Given the description of an element on the screen output the (x, y) to click on. 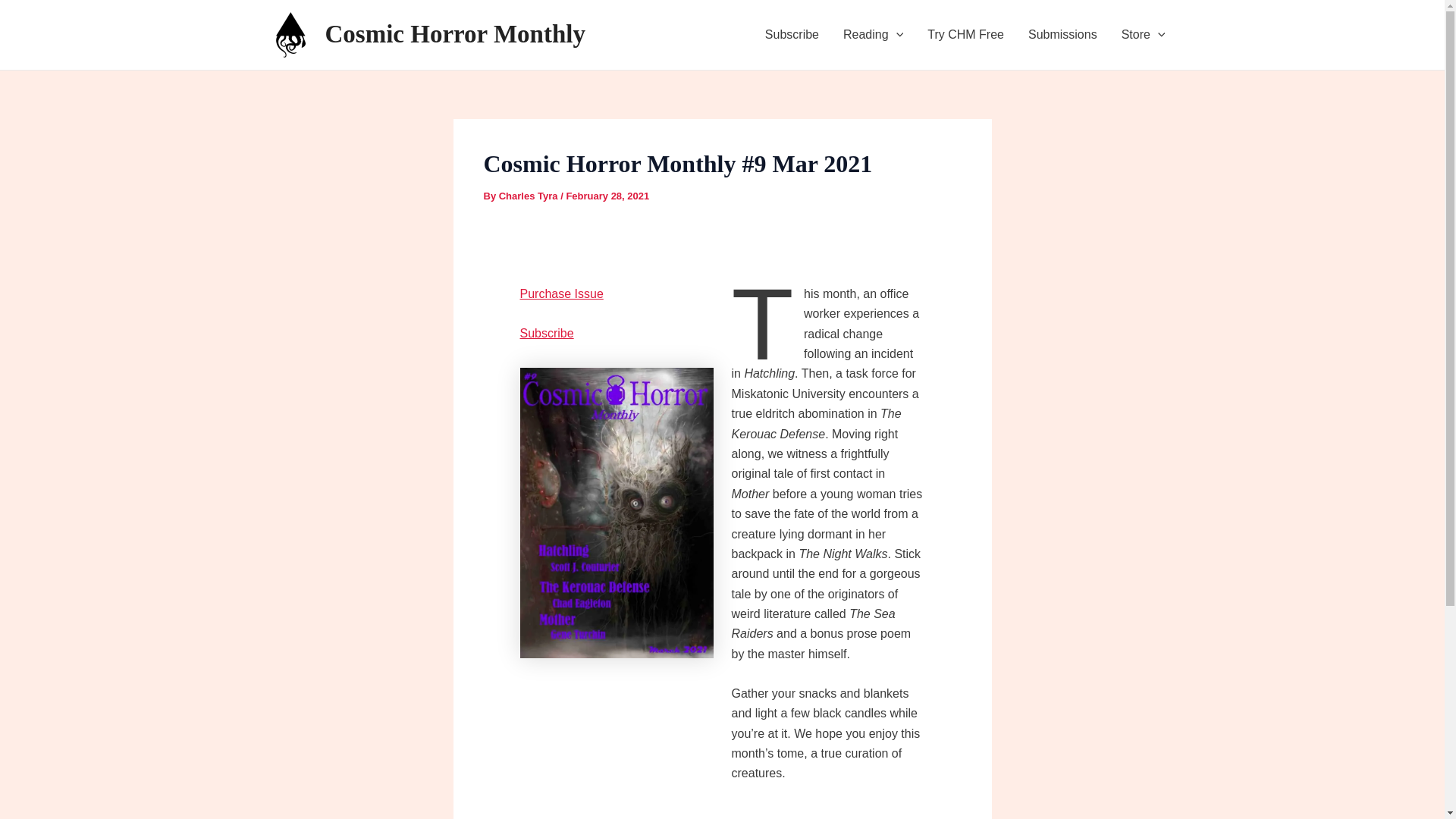
Try CHM Free (965, 34)
View all posts by Charles Tyra (529, 195)
Subscribe (791, 34)
Store (1143, 34)
Cosmic Horror Monthly (454, 33)
Reading (873, 34)
Submissions (1062, 34)
